Given the description of an element on the screen output the (x, y) to click on. 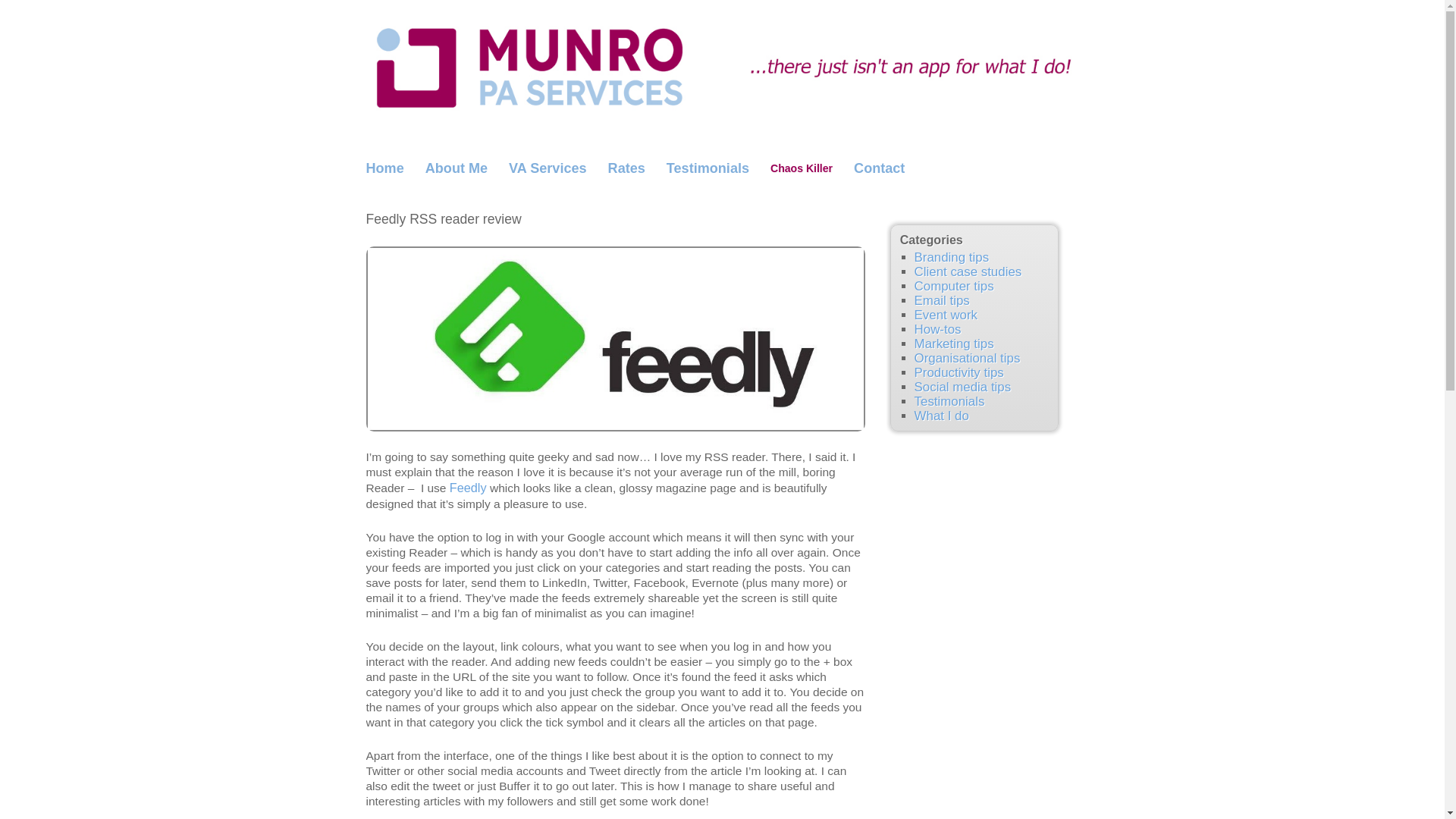
Email tips (941, 300)
Munro PA Services (721, 64)
Testimonials (708, 167)
Chaos Killer (801, 167)
What I do (941, 415)
VA Services (547, 167)
Branding tips (952, 257)
Home (384, 167)
About Me (456, 167)
Event work (945, 314)
